Given the description of an element on the screen output the (x, y) to click on. 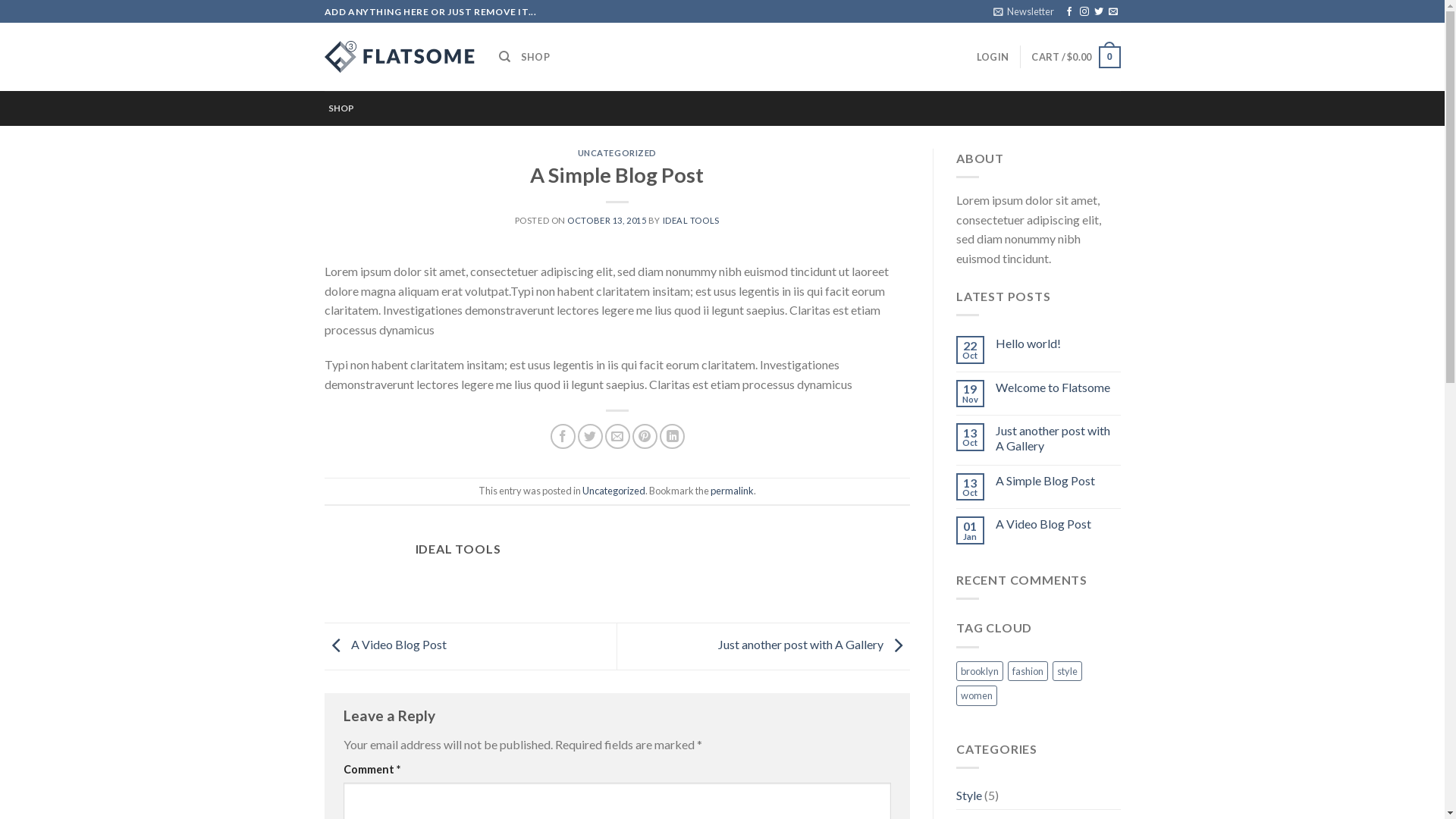
Style Element type: text (969, 795)
style Element type: text (1067, 670)
LOGIN Element type: text (992, 56)
A Video Blog Post Element type: text (1057, 523)
Uncategorized Element type: text (613, 490)
Just another post with A Gallery Element type: text (1057, 437)
Share on LinkedIn Element type: hover (671, 435)
Share on Facebook Element type: hover (562, 435)
Just another post with A Gallery Element type: text (814, 644)
A Simple Blog Post Element type: text (1057, 480)
Email to a Friend Element type: hover (617, 435)
Share on Twitter Element type: hover (589, 435)
CART / $0.00
0 Element type: text (1075, 57)
SHOP Element type: text (534, 56)
Newsletter Element type: text (1023, 11)
Follow on Facebook Element type: hover (1068, 11)
Follow on Instagram Element type: hover (1083, 11)
IDEAL TOOLS Element type: text (690, 220)
Hello world! Element type: text (1057, 342)
Welcome to Flatsome Element type: text (1057, 386)
SHOP Element type: text (340, 108)
UNCATEGORIZED Element type: text (616, 152)
fashion Element type: text (1027, 670)
Follow on Twitter Element type: hover (1098, 11)
permalink Element type: text (731, 490)
Pin on Pinterest Element type: hover (644, 435)
A Video Blog Post Element type: text (385, 644)
brooklyn Element type: text (979, 670)
m0 - Who goes there? Element type: hover (400, 56)
OCTOBER 13, 2015 Element type: text (606, 220)
women Element type: text (976, 695)
Send us an email Element type: hover (1112, 11)
